Given the description of an element on the screen output the (x, y) to click on. 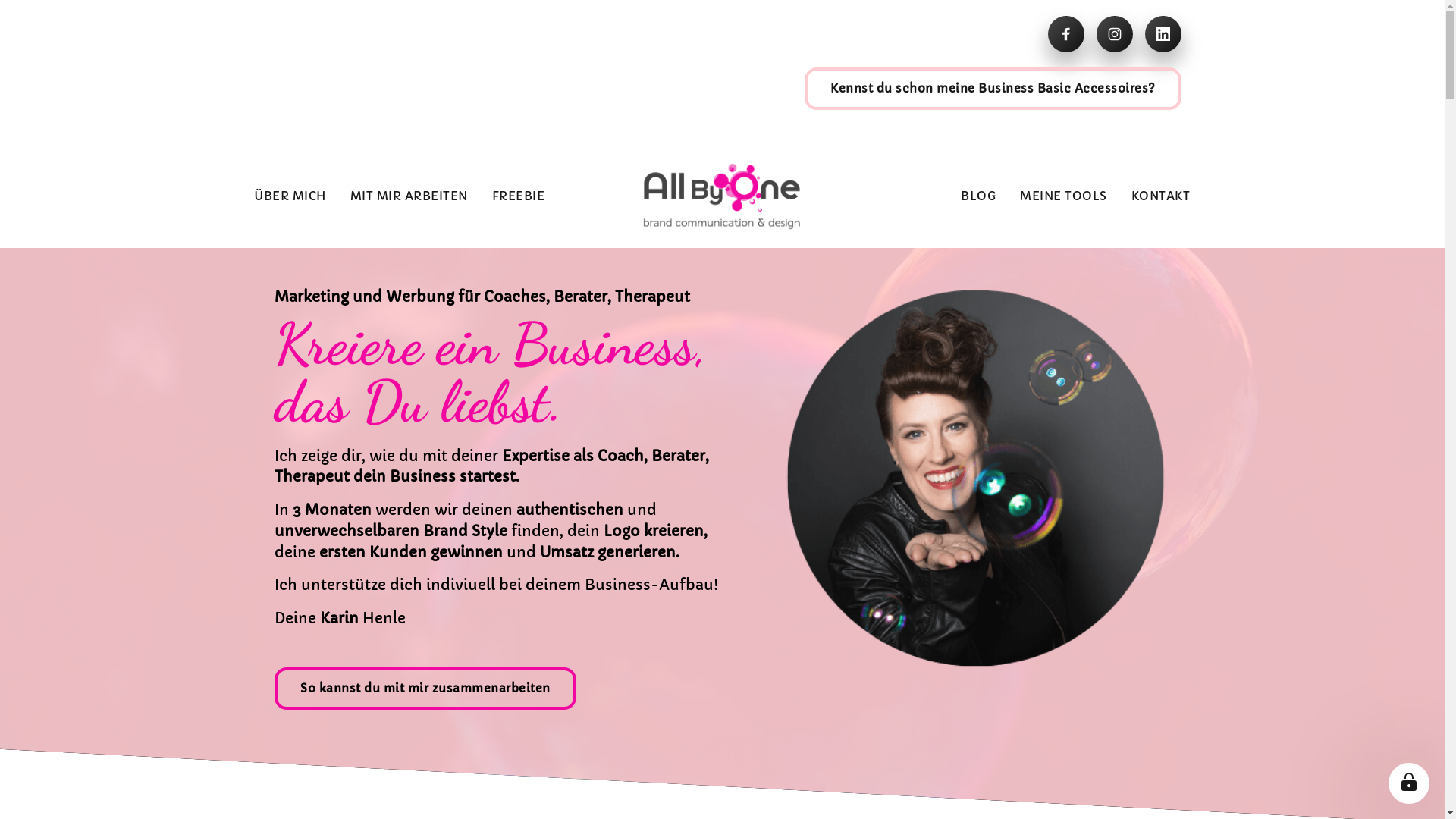
FREEBIE Element type: text (517, 196)
MEINE TOOLS Element type: text (1063, 196)
MIT MIR ARBEITEN Element type: text (408, 196)
KONTAKT Element type: text (1160, 196)
BLOG Element type: text (977, 196)
So kannst du mit mir zusammenarbeiten Element type: text (425, 688)
Kennst du schon meine Business Basic Accessoires? Element type: text (992, 88)
